Given the description of an element on the screen output the (x, y) to click on. 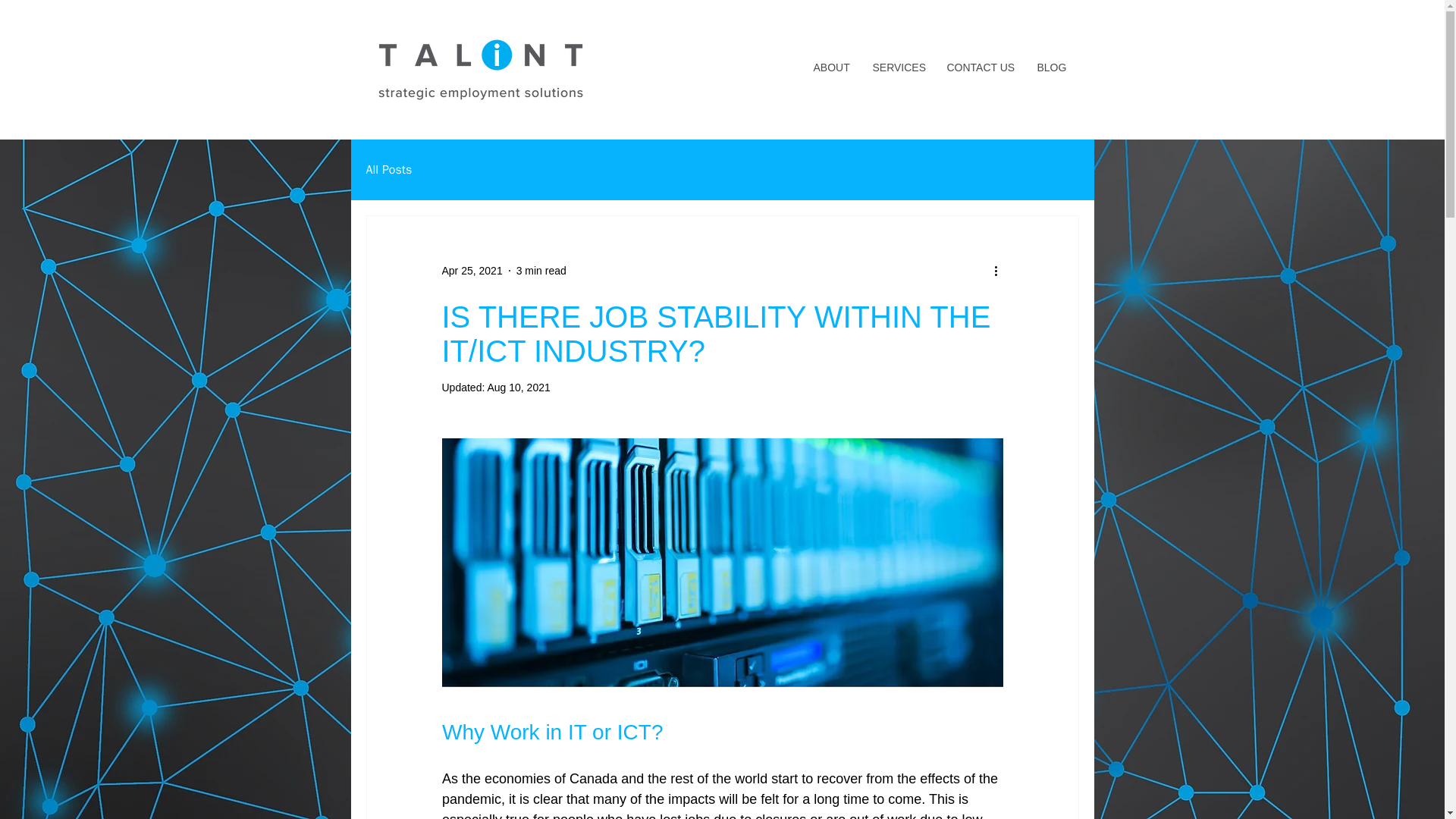
ABOUT (831, 67)
3 min read (541, 269)
CONTACT US (981, 67)
Aug 10, 2021 (518, 387)
All Posts (388, 170)
Apr 25, 2021 (471, 269)
SERVICES (898, 67)
BLOG (1051, 67)
